Given the description of an element on the screen output the (x, y) to click on. 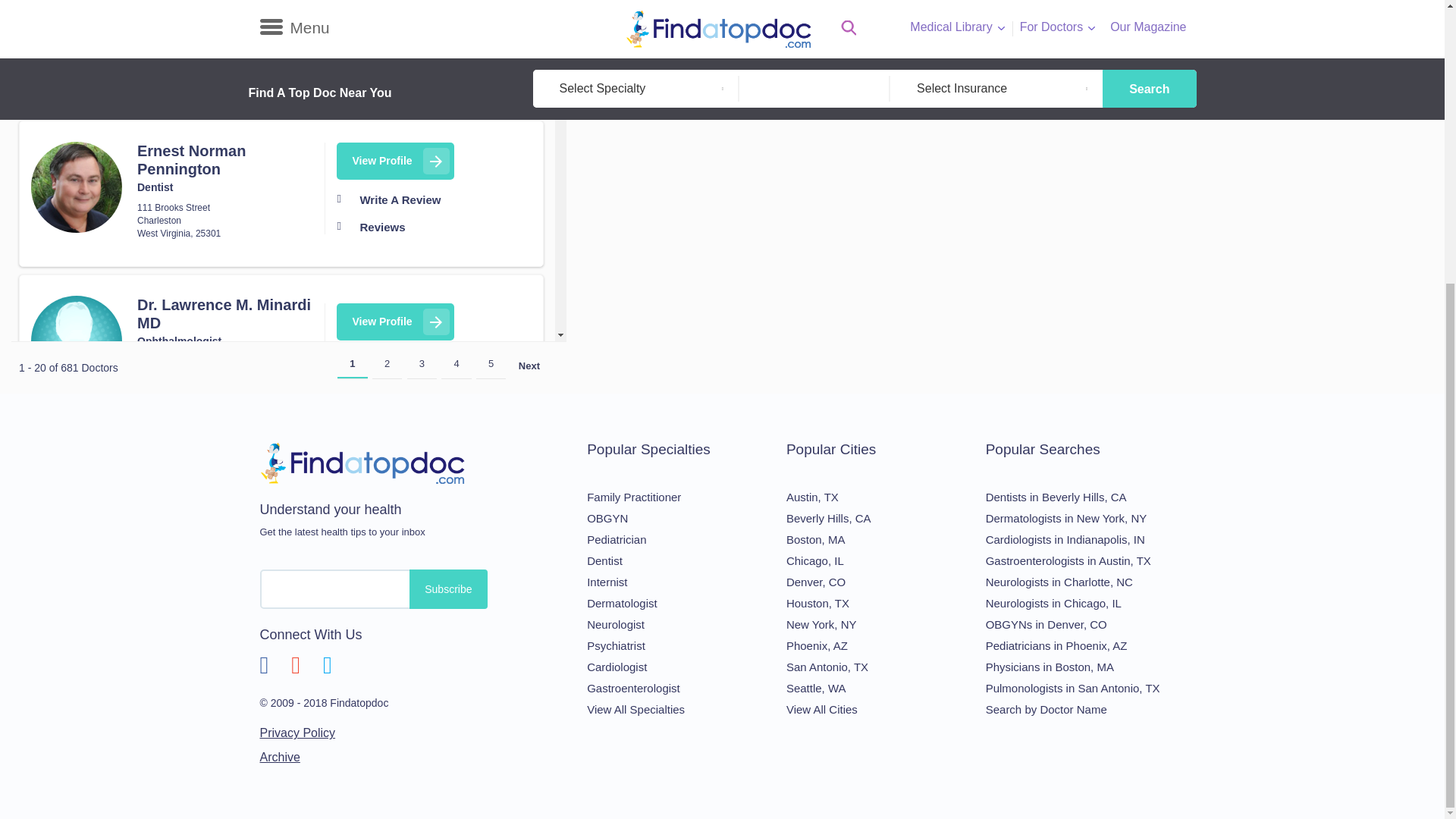
Lorena  Doctor M.D. (76, 515)
Lorena M. Surber DDS (76, 667)
Ernest Norman Pennington (76, 186)
Dr. Mallinath  Kayi M.D. (76, 40)
Dr. Lawrence M. Minardi MD (76, 340)
